Given the description of an element on the screen output the (x, y) to click on. 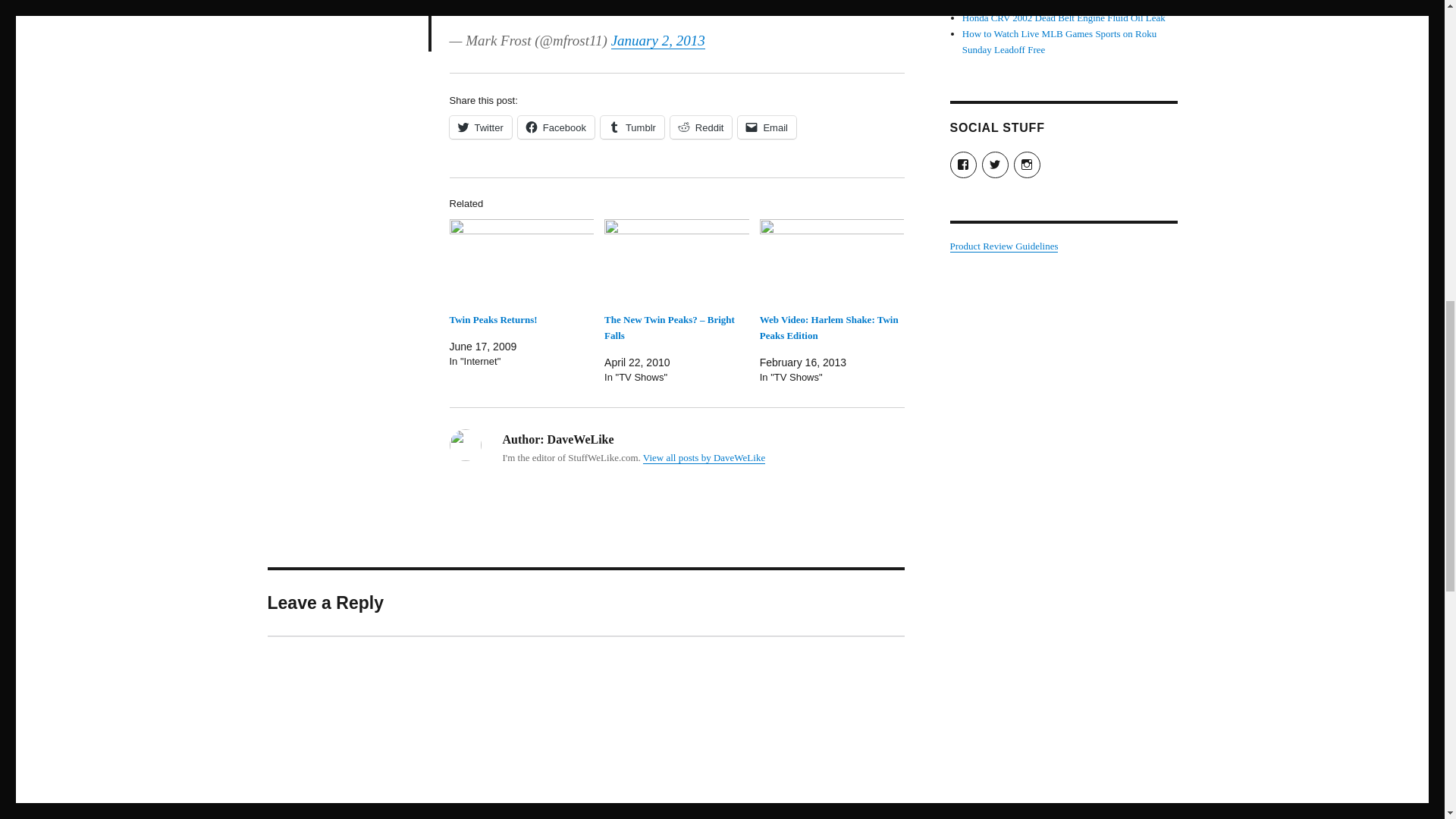
Reddit (700, 127)
View all posts by DaveWeLike (704, 457)
Web Video: Harlem Shake: Twin Peaks Edition (829, 327)
Comment Form (585, 727)
mfrost11 (753, 2)
Web Video: Harlem Shake: Twin Peaks Edition (829, 327)
Click to email a link to a friend (767, 127)
Tumblr (631, 127)
Twitter (479, 127)
Web Video: Harlem Shake: Twin Peaks Edition (832, 260)
Email (767, 127)
Click to share on Reddit (700, 127)
Click to share on Tumblr (631, 127)
